Given the description of an element on the screen output the (x, y) to click on. 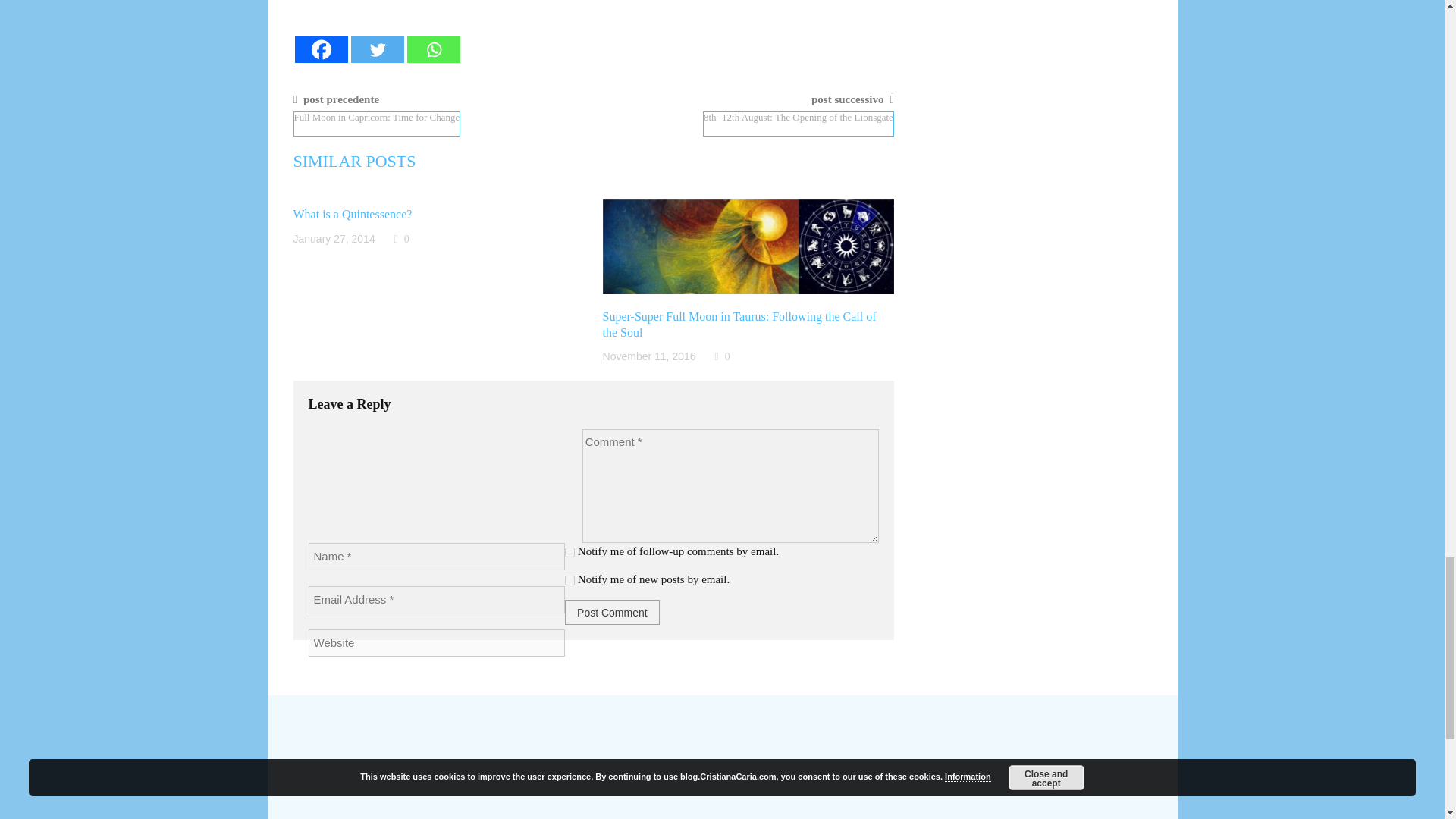
subscribe (569, 580)
What is a Quintessence? (352, 214)
Twitter (376, 49)
Post Comment (611, 611)
subscribe (569, 552)
Facebook (320, 49)
Whatsapp (433, 49)
